Given the description of an element on the screen output the (x, y) to click on. 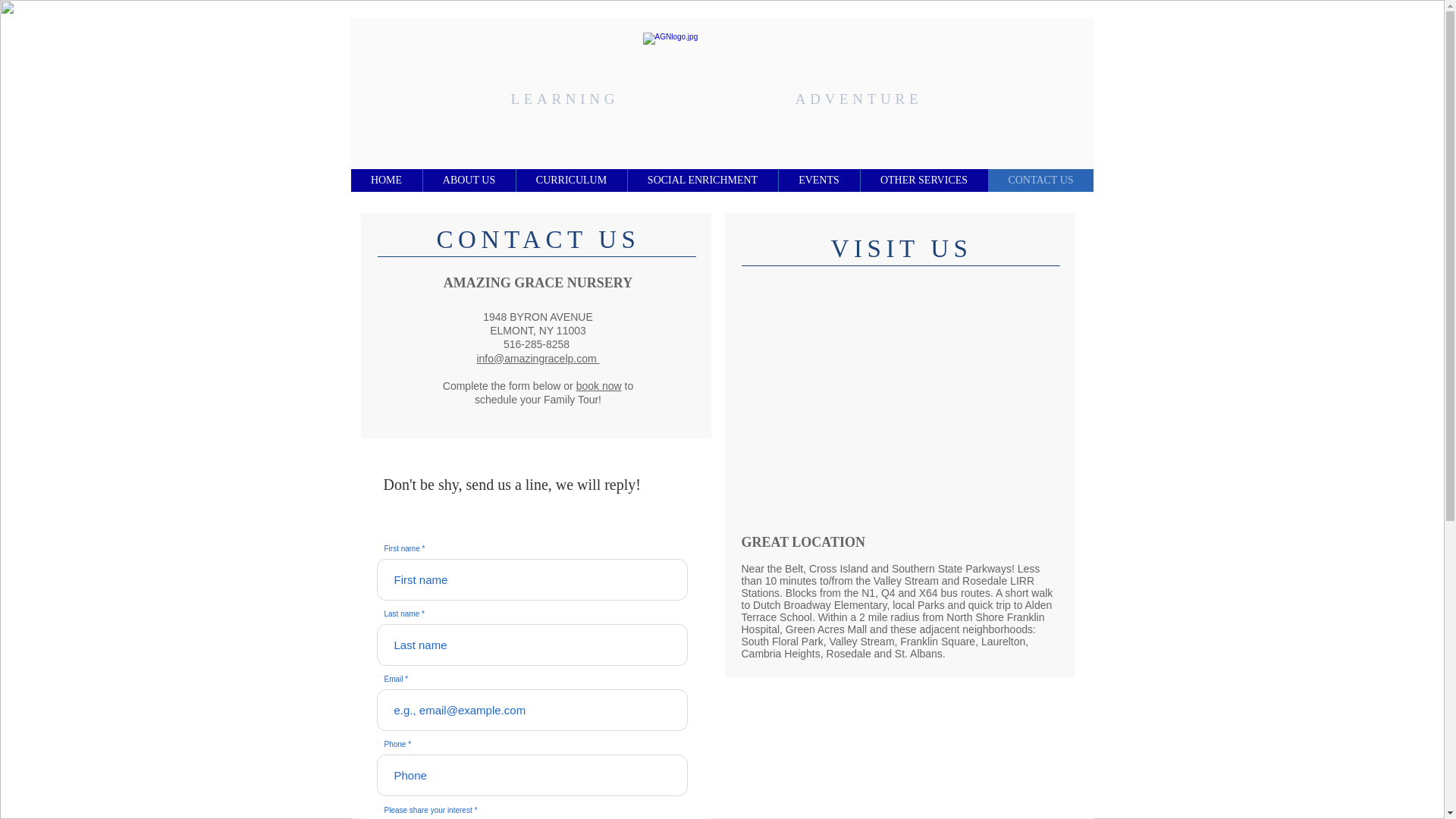
book now (598, 386)
SOCIAL ENRICHMENT (701, 179)
OTHER SERVICES (924, 179)
ABOUT US (468, 179)
EVENTS (818, 179)
CONTACT US (1040, 179)
HOME (386, 179)
CURRICULUM (571, 179)
